Given the description of an element on the screen output the (x, y) to click on. 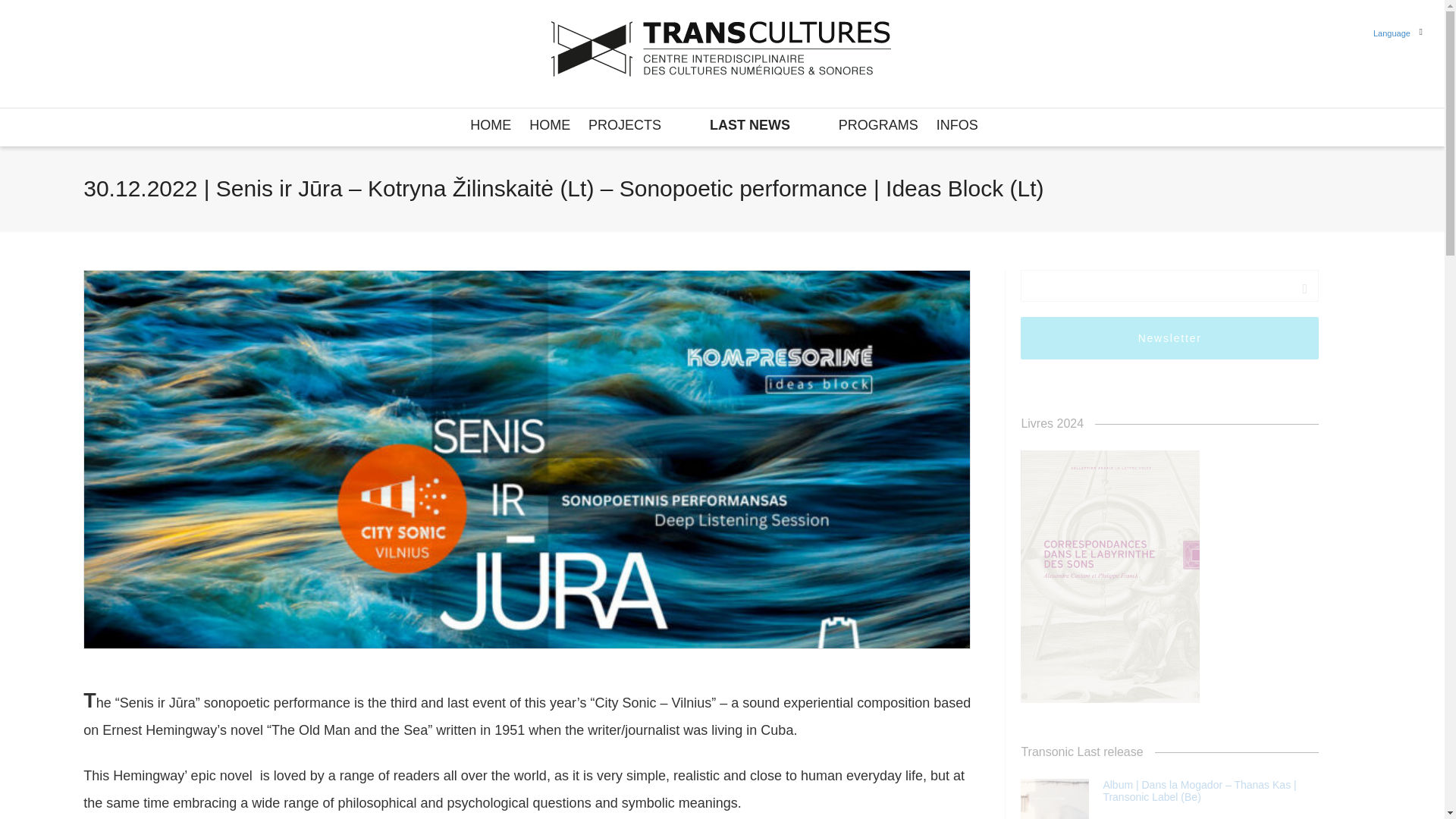
LAST NEWS (750, 126)
HOME (490, 126)
HOME (549, 126)
Language (1391, 33)
PROJECTS (624, 126)
